Given the description of an element on the screen output the (x, y) to click on. 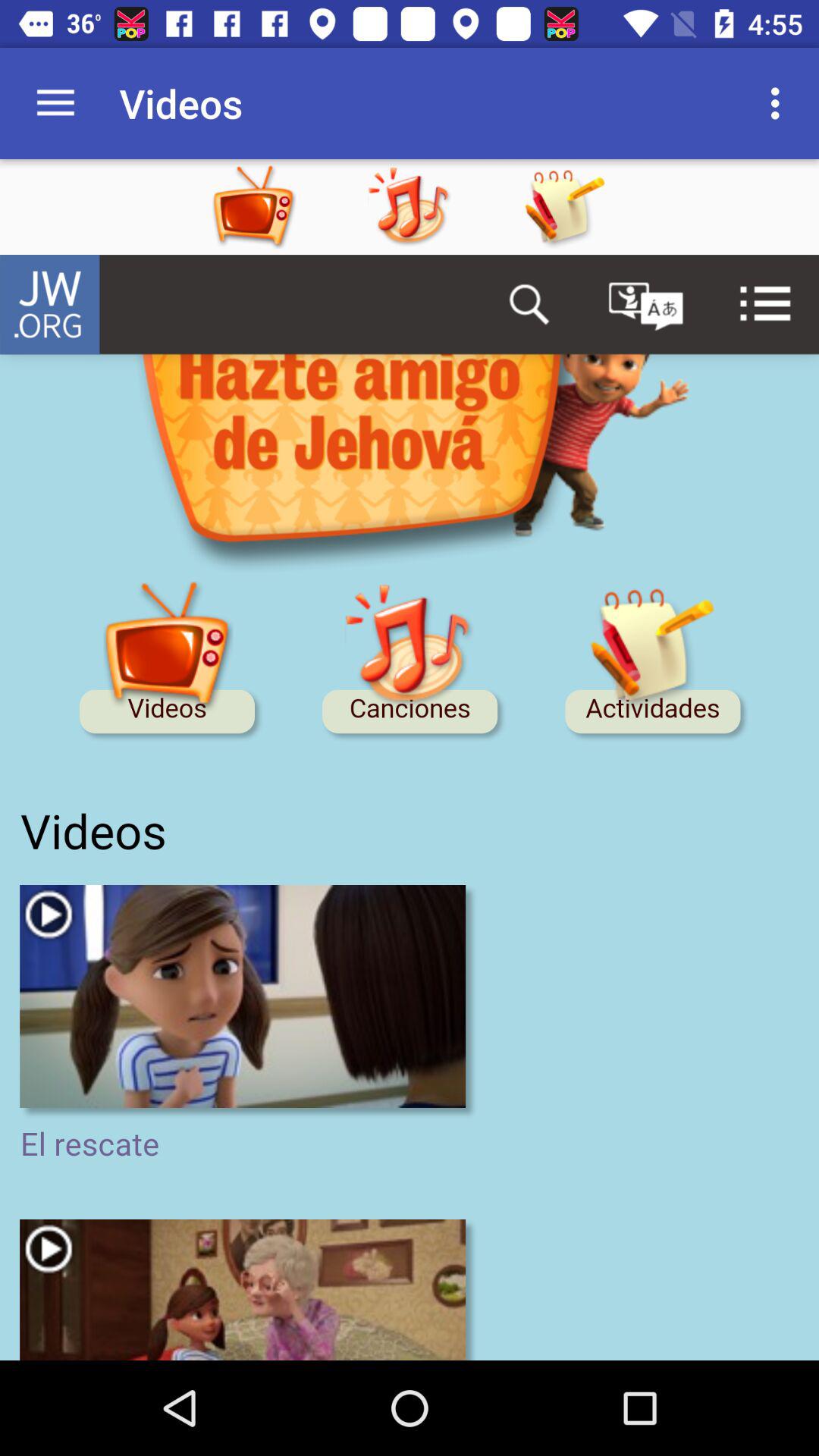
display screen (409, 807)
